Given the description of an element on the screen output the (x, y) to click on. 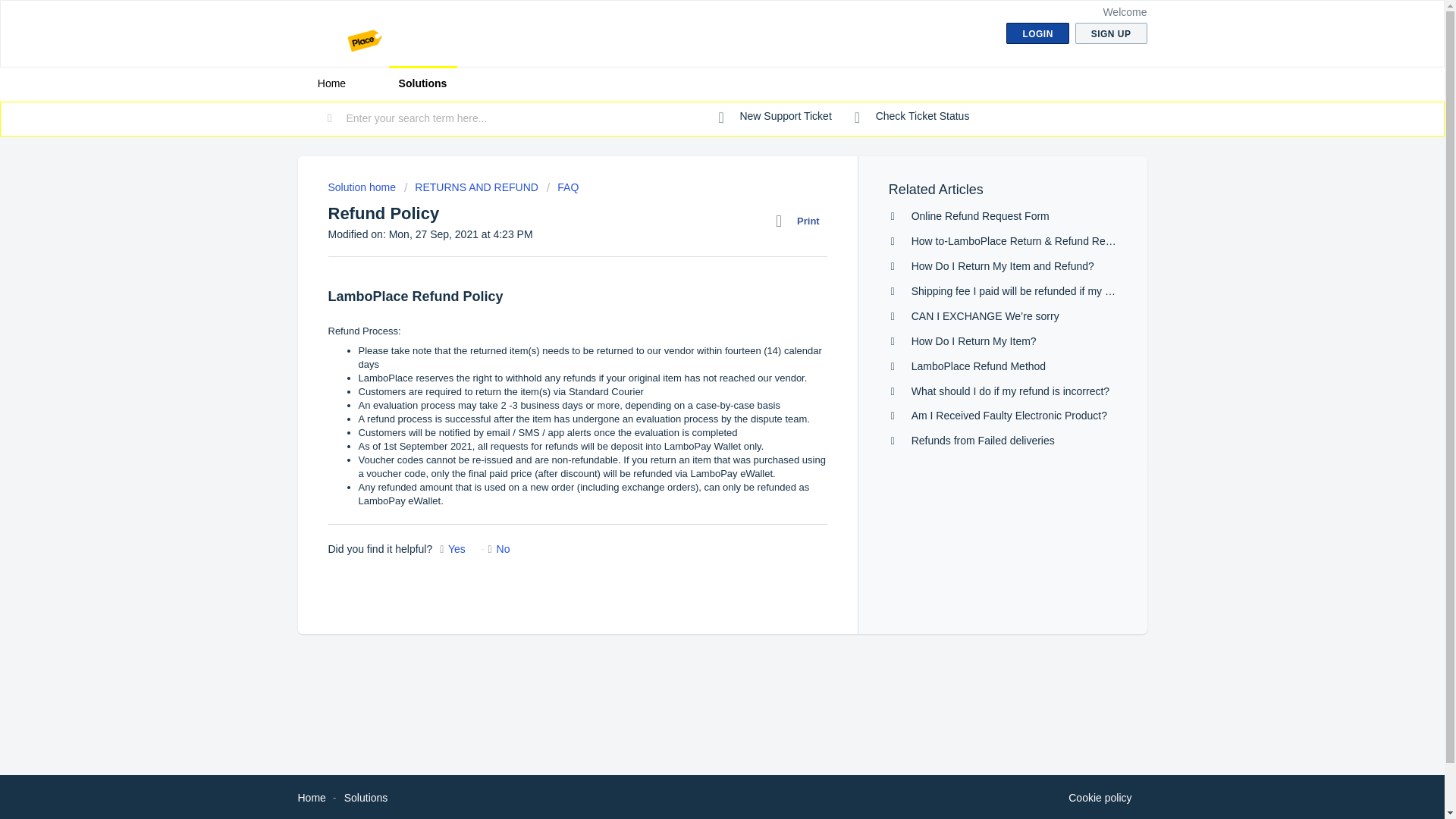
FAQ (562, 186)
LOGIN (1037, 33)
Online Refund Request Form (980, 215)
Check ticket status (911, 116)
Why we love Cookies (1099, 798)
Home (331, 83)
Home (310, 797)
How Do I Return My Item? (973, 340)
How Do I Return My Item and Refund? (1002, 265)
New Support Ticket (775, 116)
